Given the description of an element on the screen output the (x, y) to click on. 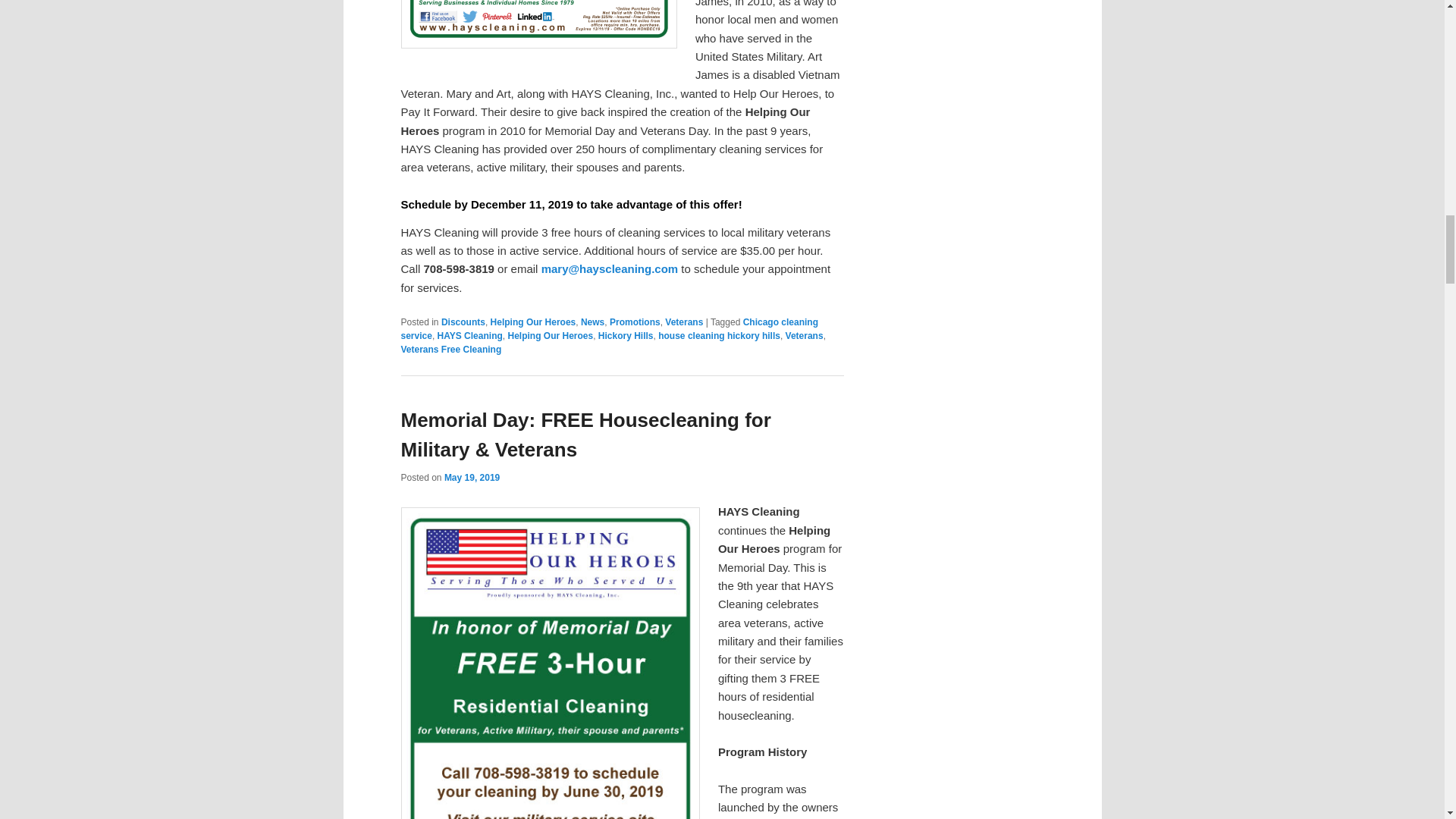
6:01 pm (471, 477)
